Given the description of an element on the screen output the (x, y) to click on. 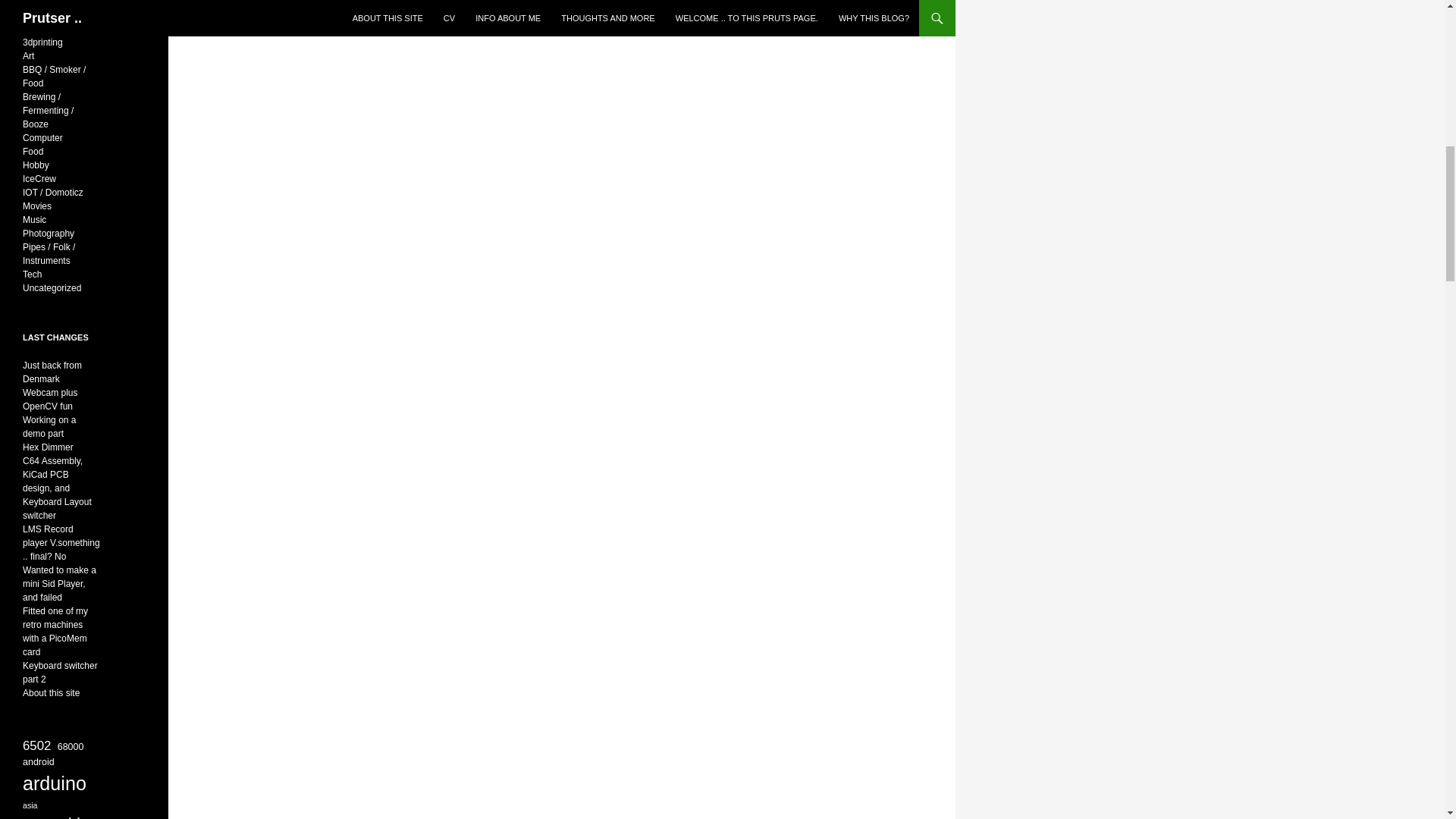
IceCrew (39, 178)
Art (28, 55)
Computer (42, 137)
Music (34, 219)
Hobby (36, 164)
Movies (36, 205)
Food (33, 151)
3dprinting (42, 41)
